Given the description of an element on the screen output the (x, y) to click on. 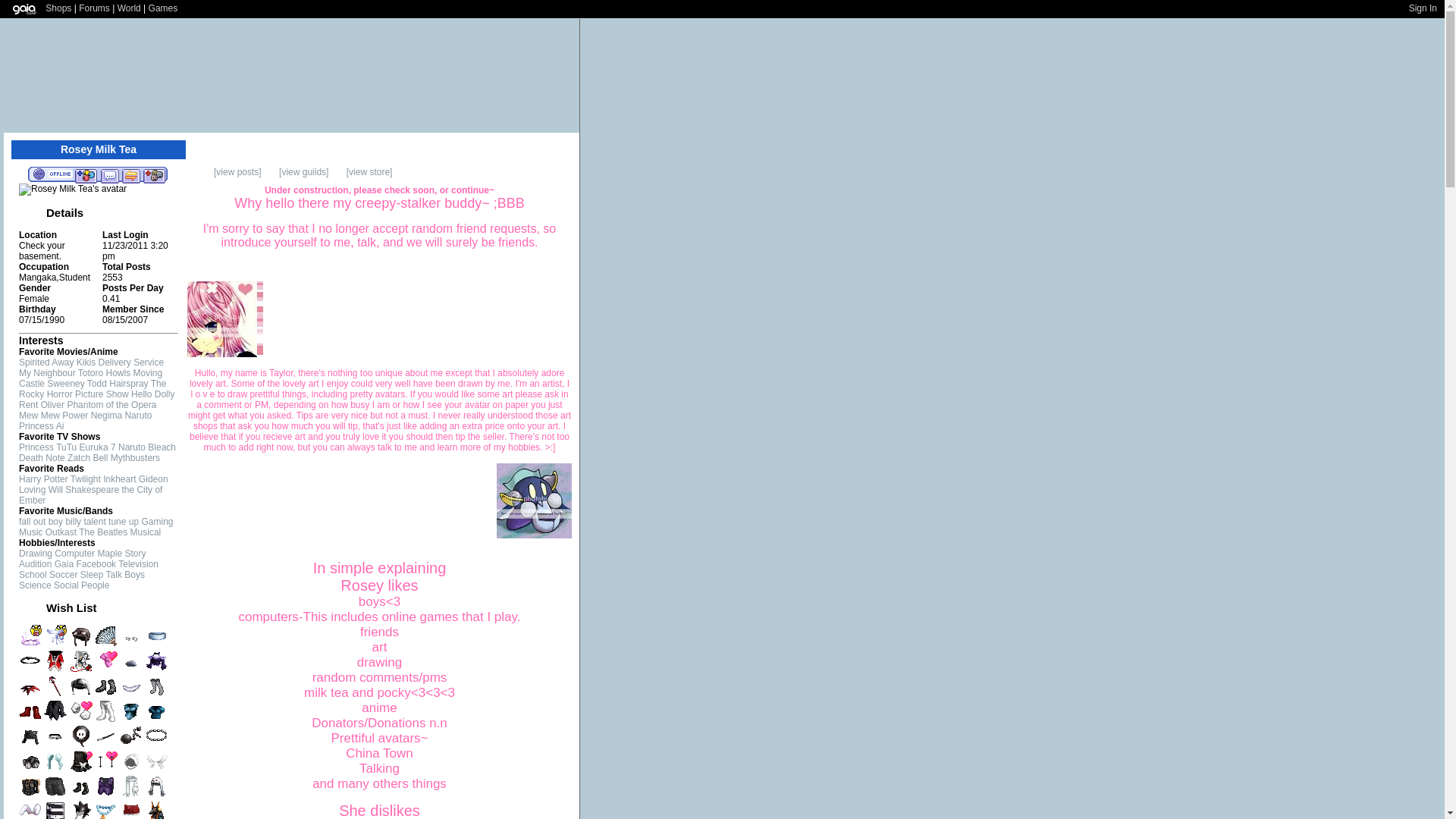
Loving Will Shakespeare (68, 489)
Naruto (131, 447)
Games (162, 8)
Princess Ai (41, 425)
Euruka 7 (98, 447)
Shops (58, 8)
The Rocky Horror Picture Show (91, 388)
Death Note (41, 457)
Rosey Milk Tea (72, 189)
Add to Ignored (154, 175)
